Given the description of an element on the screen output the (x, y) to click on. 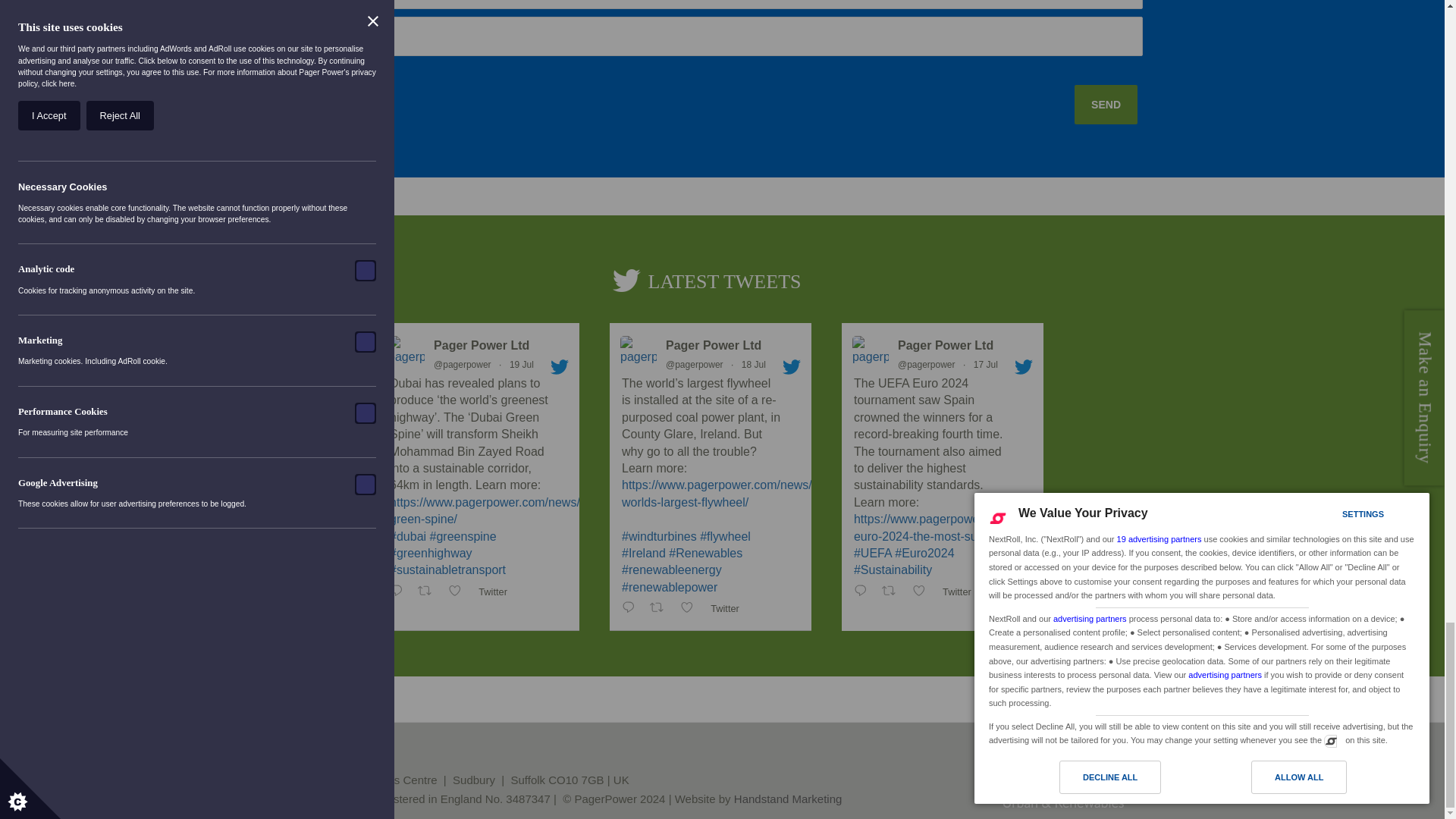
SEND (1105, 104)
